Given the description of an element on the screen output the (x, y) to click on. 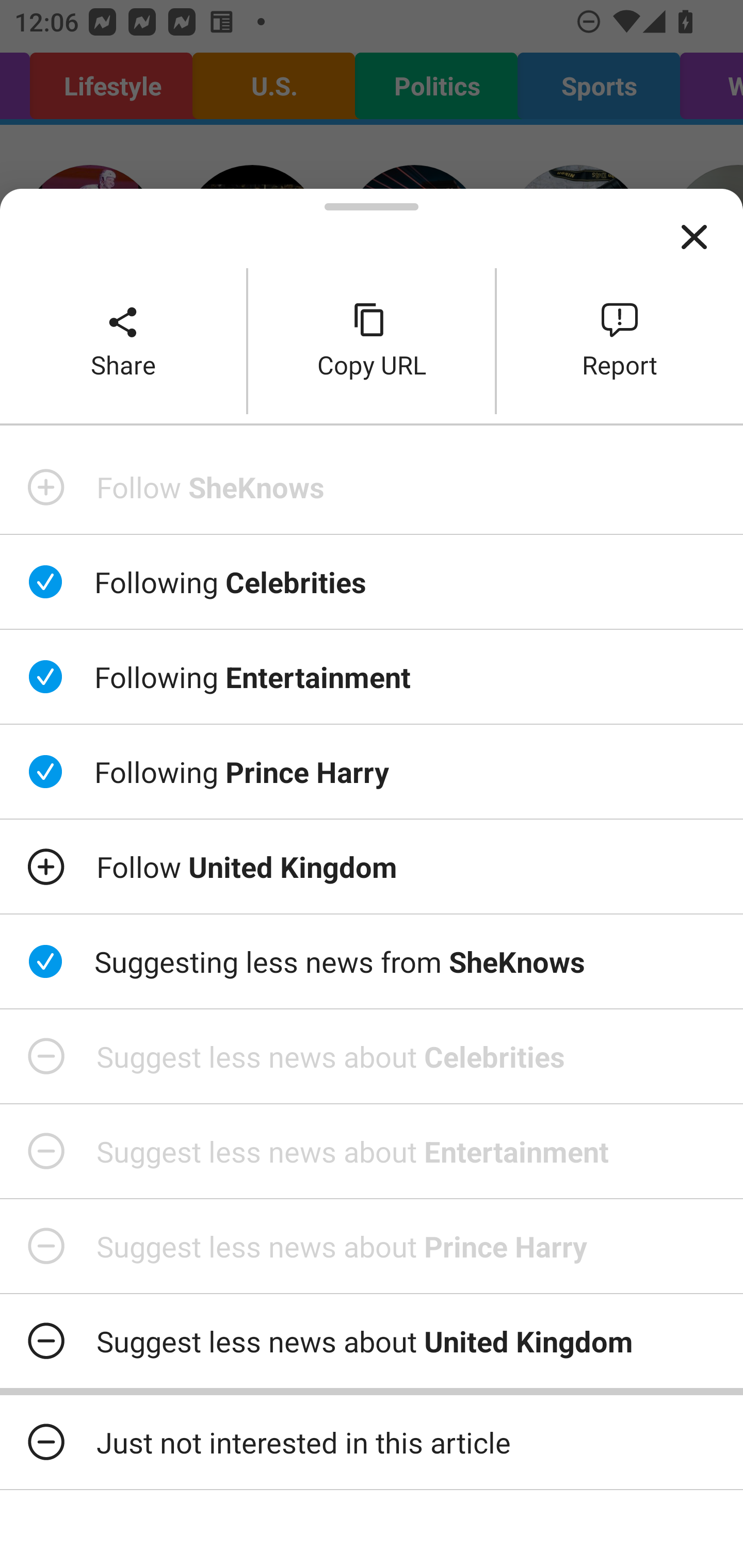
Close (694, 237)
Share (122, 340)
Copy URL (371, 340)
Report (620, 340)
Follow SheKnows (371, 486)
Following Celebrities (371, 581)
Following Entertainment (371, 677)
Following Prince Harry (371, 771)
Follow United Kingdom (371, 867)
Suggesting less news from SheKnows (371, 961)
Suggest less news about United Kingdom (371, 1340)
Just not interested in this article (371, 1442)
